Given the description of an element on the screen output the (x, y) to click on. 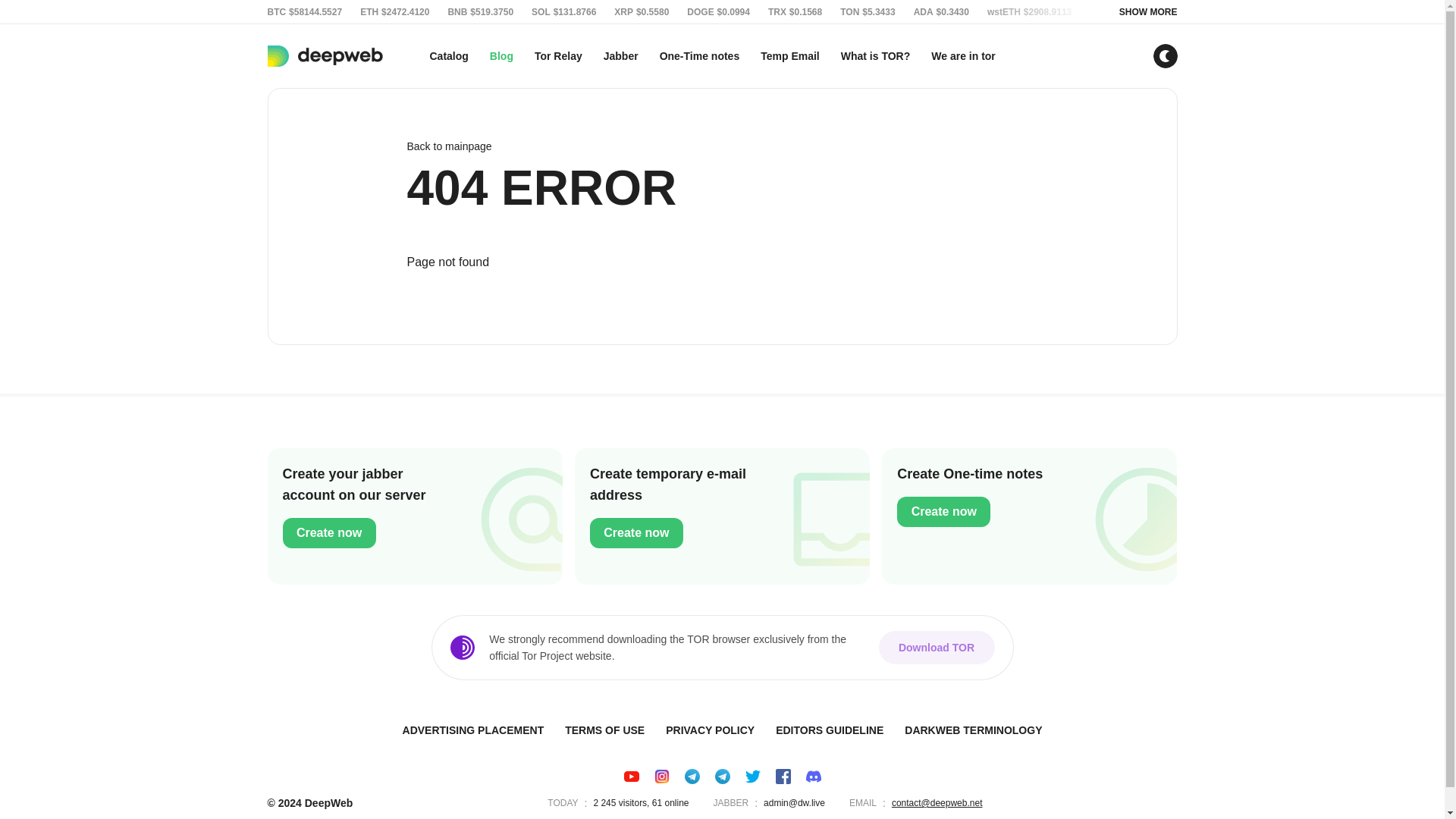
DARKWEB TERMINOLOGY (972, 730)
Create now (943, 511)
PRIVACY POLICY (710, 730)
ADVERTISING PLACEMENT (472, 730)
Discord (813, 776)
Create now (635, 532)
What is TOR? (875, 56)
EDITORS GUIDELINE (829, 730)
deepwebdotnet (721, 776)
Twitter (752, 776)
